Given the description of an element on the screen output the (x, y) to click on. 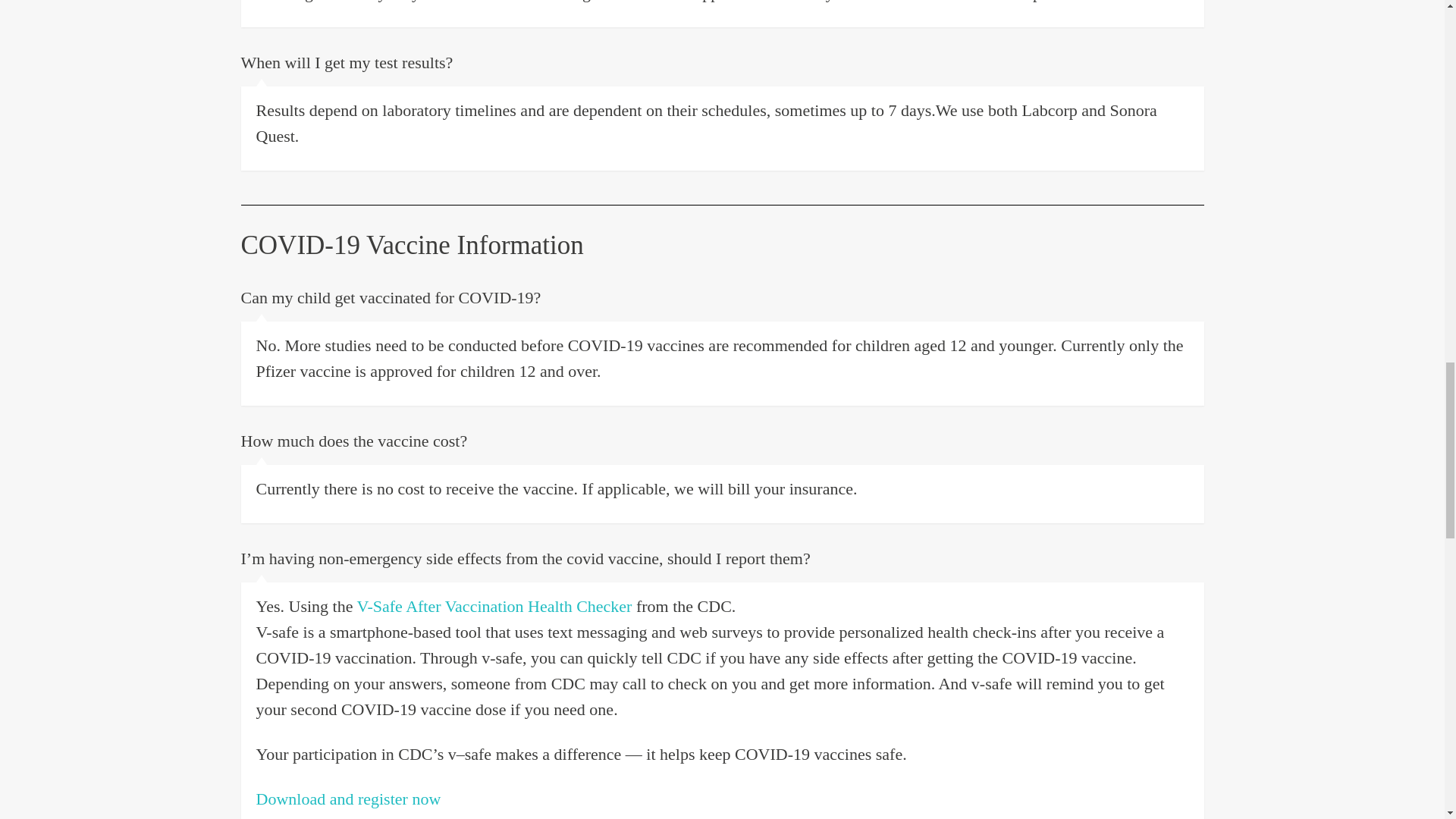
Download and register now (348, 798)
V-Safe After Vaccination Health Checker (493, 606)
